Given the description of an element on the screen output the (x, y) to click on. 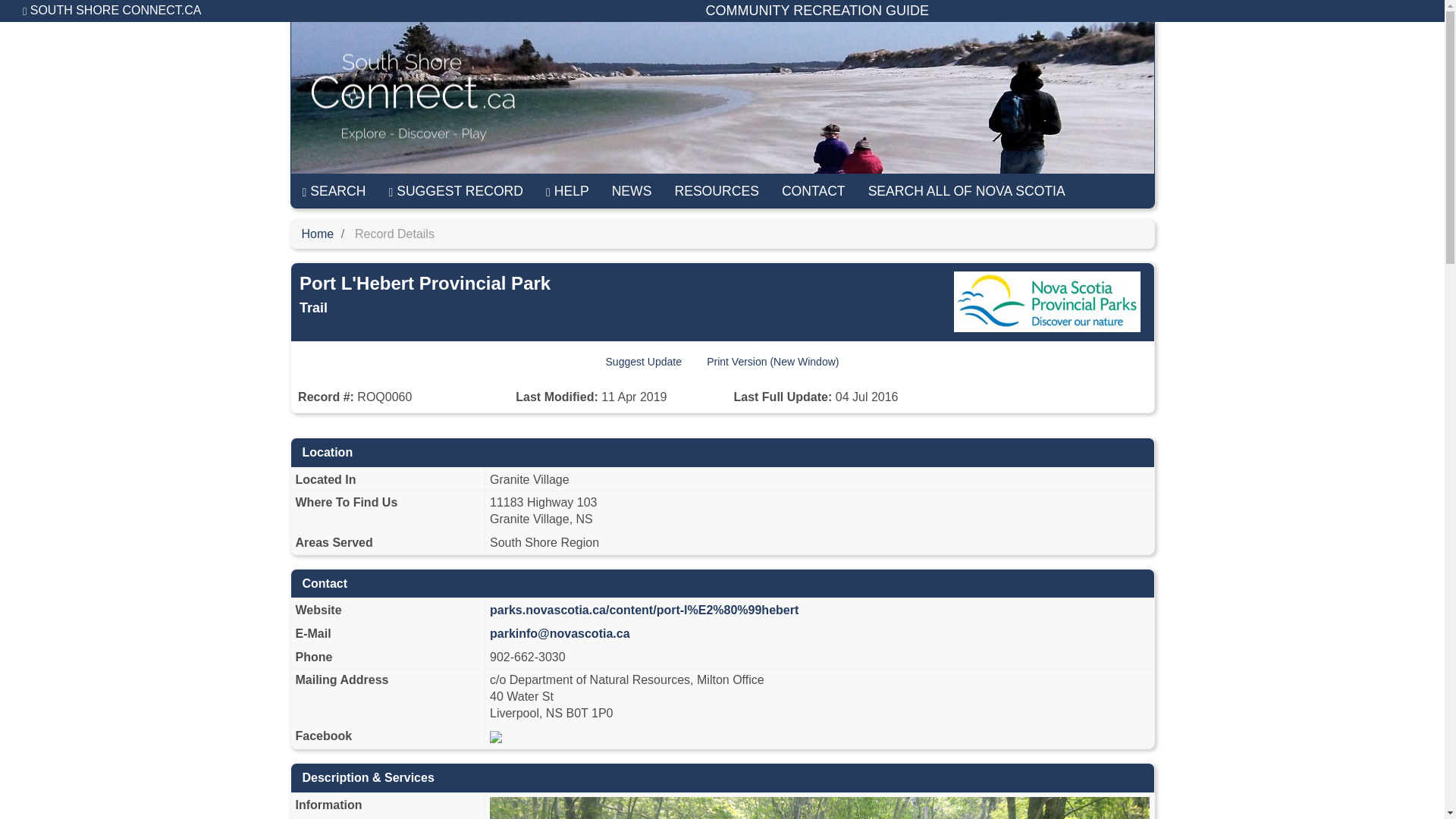
SEARCH ALL OF NOVA SCOTIA (967, 191)
SOUTH SHORE CONNECT.CA (111, 10)
RESOURCES (716, 191)
HELP (566, 191)
Suggest Update (643, 361)
NEWS (631, 191)
CONTACT (813, 191)
Home (317, 233)
SUGGEST RECORD (456, 191)
SEARCH (334, 191)
